Given the description of an element on the screen output the (x, y) to click on. 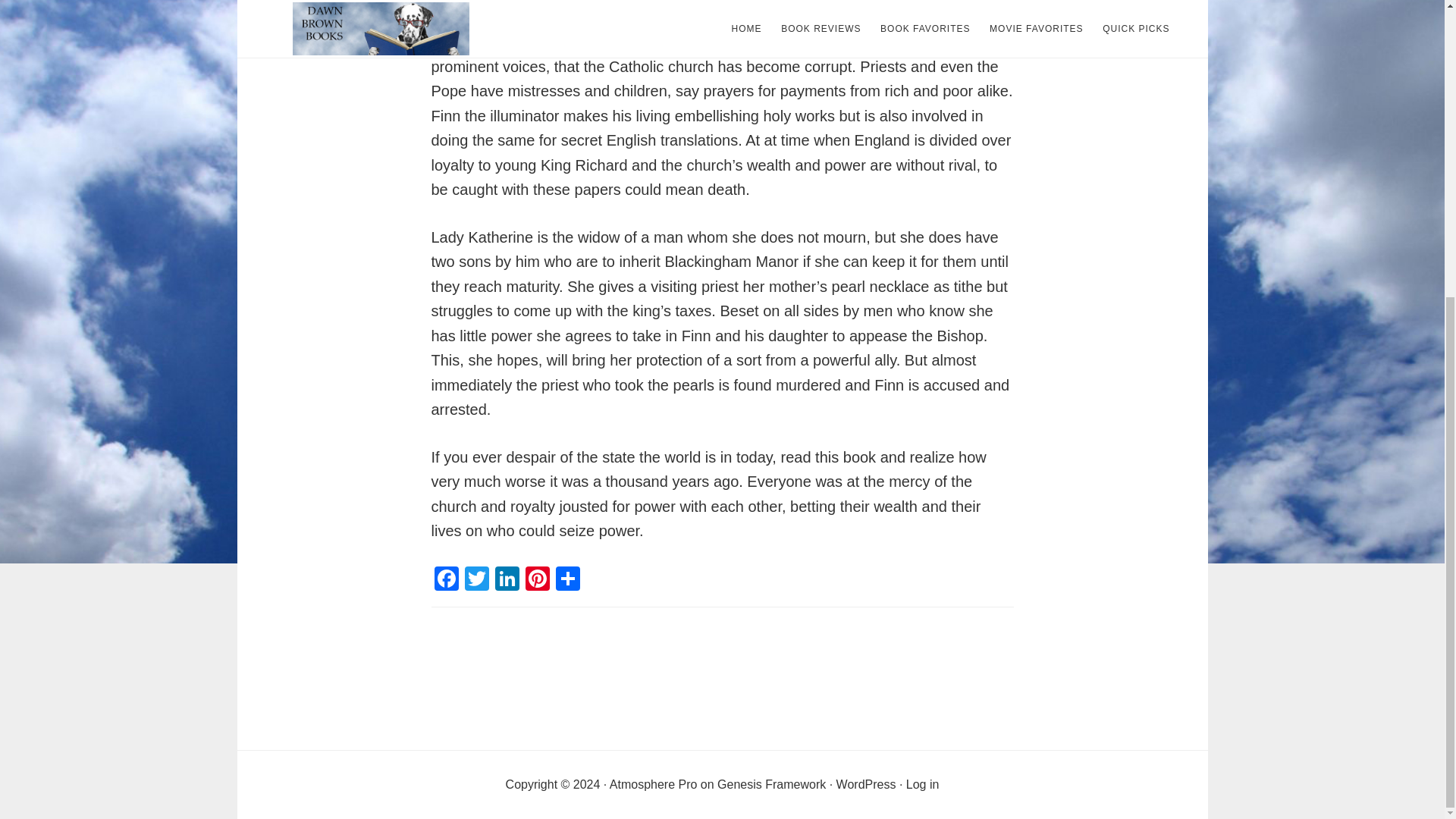
Twitter (476, 580)
LinkedIn (506, 580)
Twitter (476, 580)
LinkedIn (506, 580)
Log in (922, 784)
WordPress (865, 784)
Pinterest (536, 580)
Facebook (445, 580)
Genesis Framework (771, 784)
Atmosphere Pro (653, 784)
Pinterest (536, 580)
Facebook (445, 580)
